Given the description of an element on the screen output the (x, y) to click on. 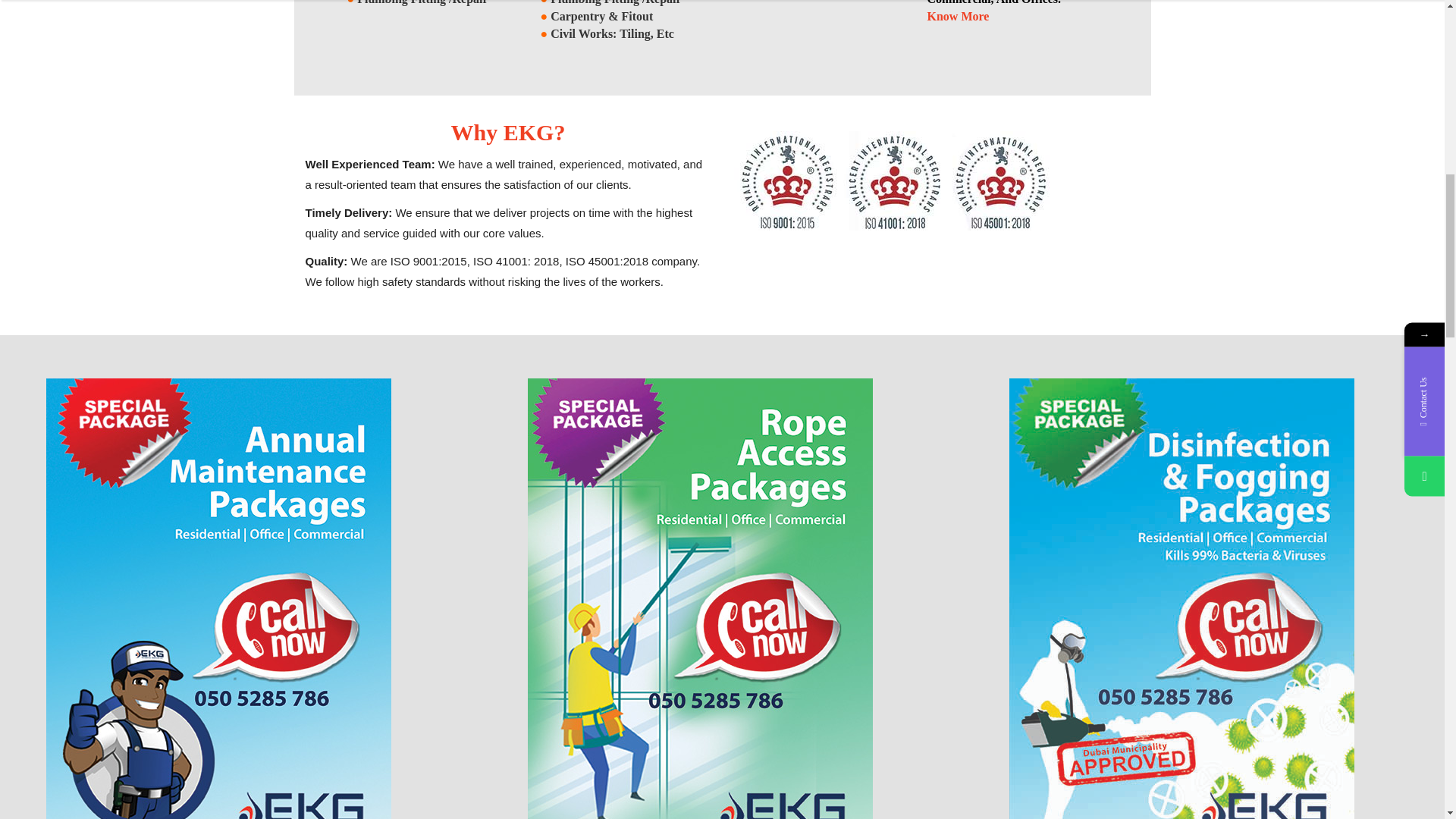
Know More (957, 15)
